Given the description of an element on the screen output the (x, y) to click on. 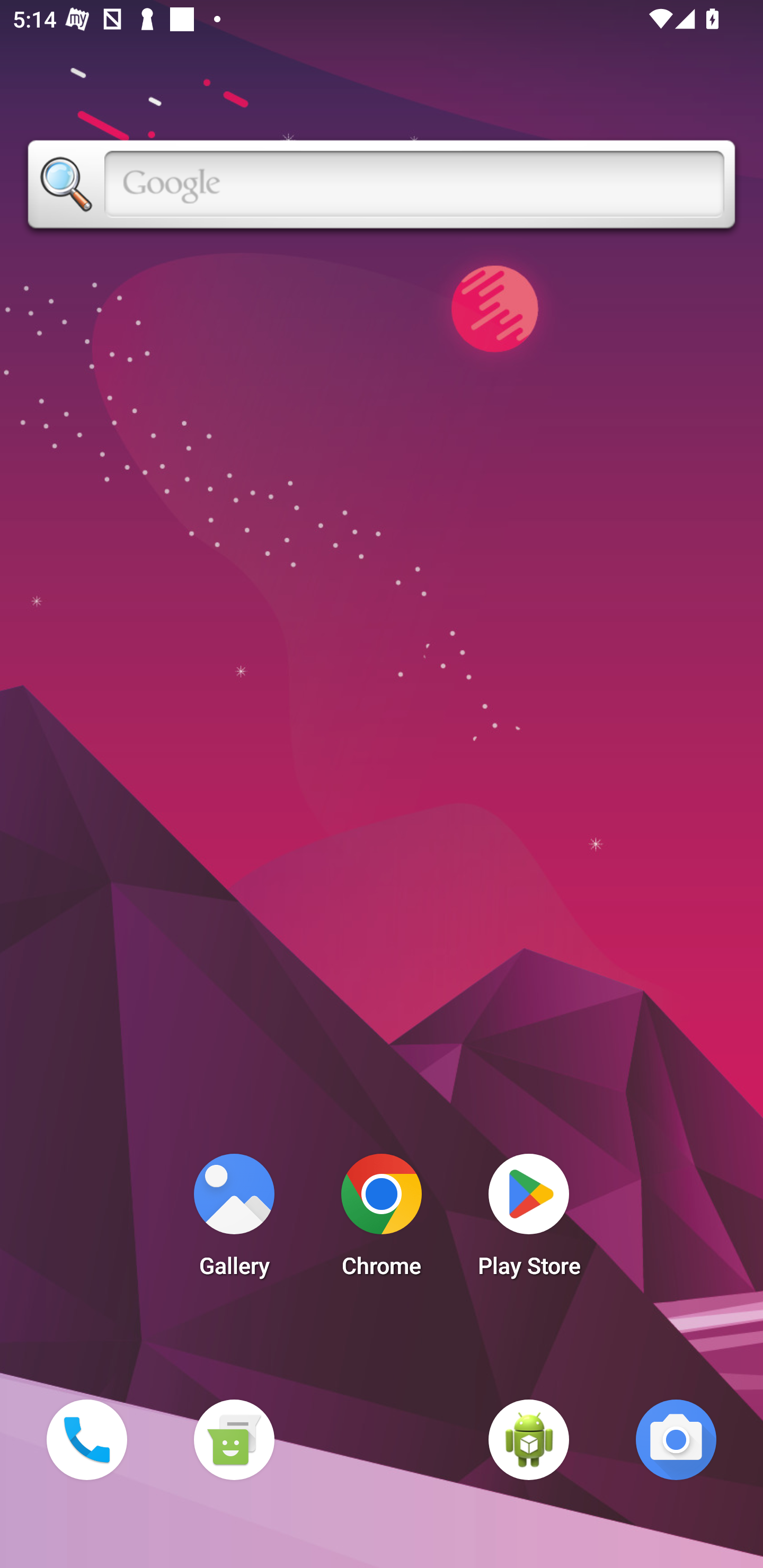
Gallery (233, 1220)
Chrome (381, 1220)
Play Store (528, 1220)
Phone (86, 1439)
Messaging (233, 1439)
WebView Browser Tester (528, 1439)
Camera (676, 1439)
